Given the description of an element on the screen output the (x, y) to click on. 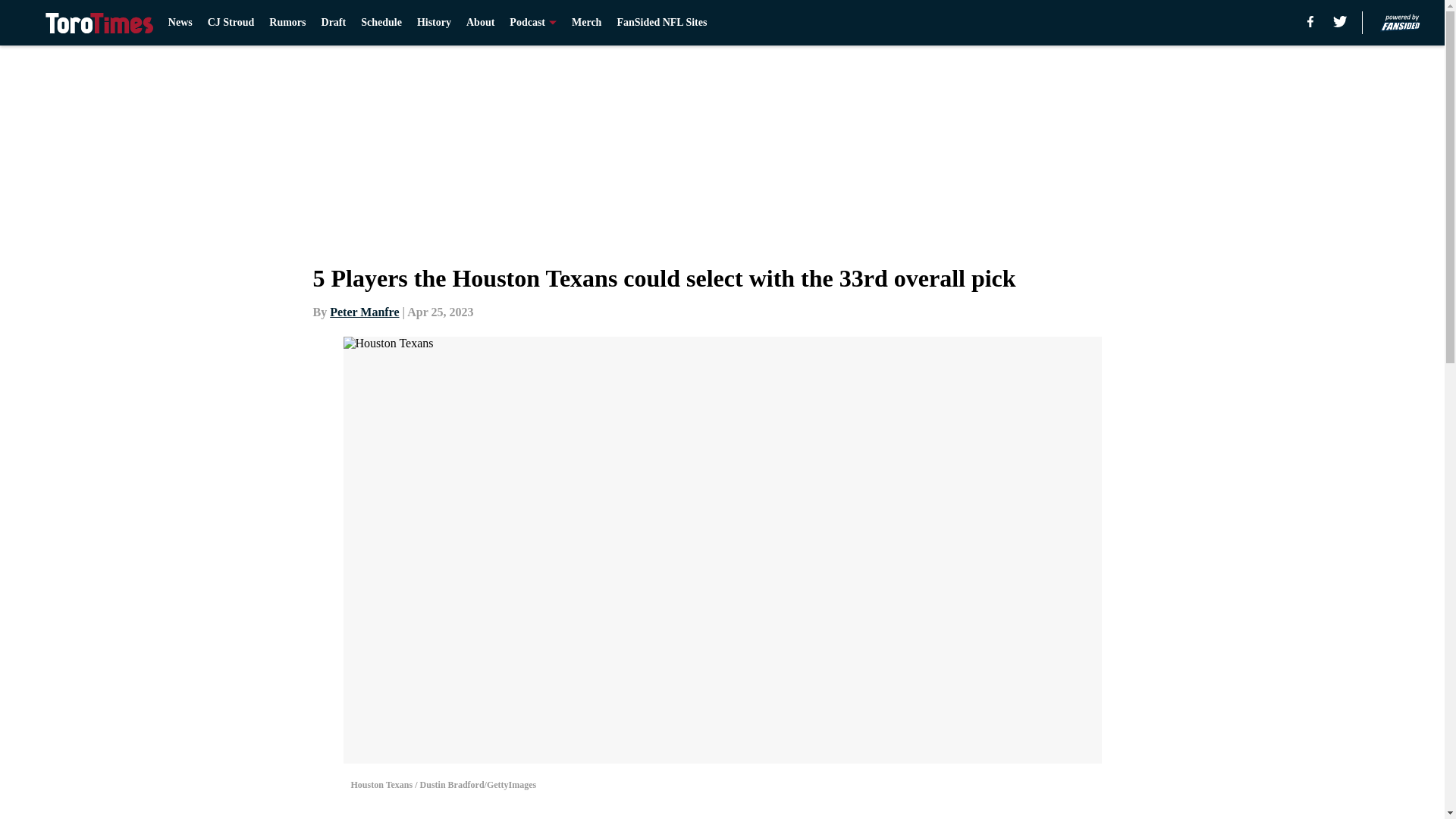
Schedule (381, 22)
History (433, 22)
Rumors (287, 22)
Draft (333, 22)
About (480, 22)
Peter Manfre (364, 311)
FanSided NFL Sites (660, 22)
News (180, 22)
CJ Stroud (231, 22)
